Given the description of an element on the screen output the (x, y) to click on. 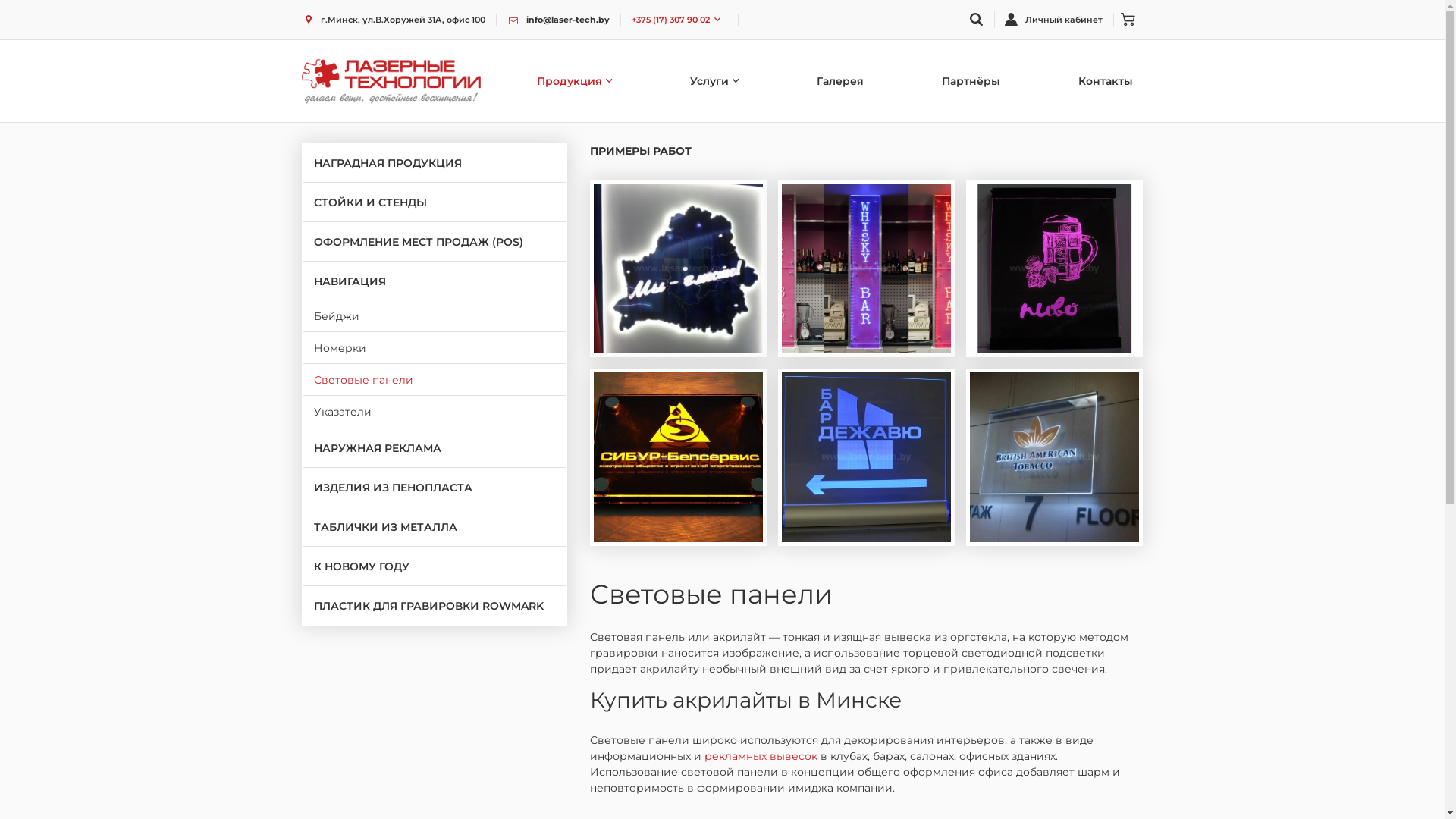
info@laser-tech.by Element type: text (557, 19)
